Given the description of an element on the screen output the (x, y) to click on. 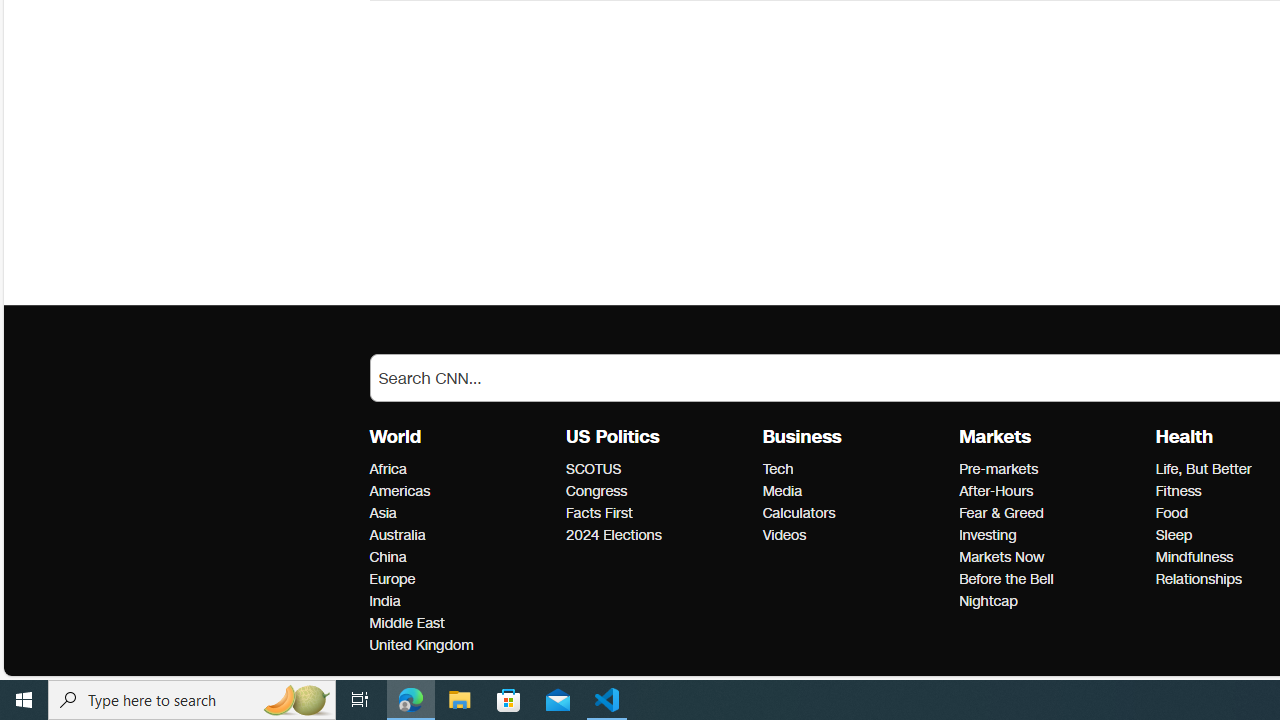
Business Tech (777, 469)
Middle East (461, 623)
Business Videos (783, 535)
World (395, 437)
Health Sleep (1173, 535)
BusinessTechMediaCalculatorsVideos (860, 485)
SCOTUS (658, 469)
Health Life, But Better (1202, 469)
World Americas (399, 491)
US Politics SCOTUS (593, 469)
Videos (854, 536)
Congress (658, 492)
US Politics Congress (596, 491)
Nightcap (1051, 602)
Australia (461, 536)
